Given the description of an element on the screen output the (x, y) to click on. 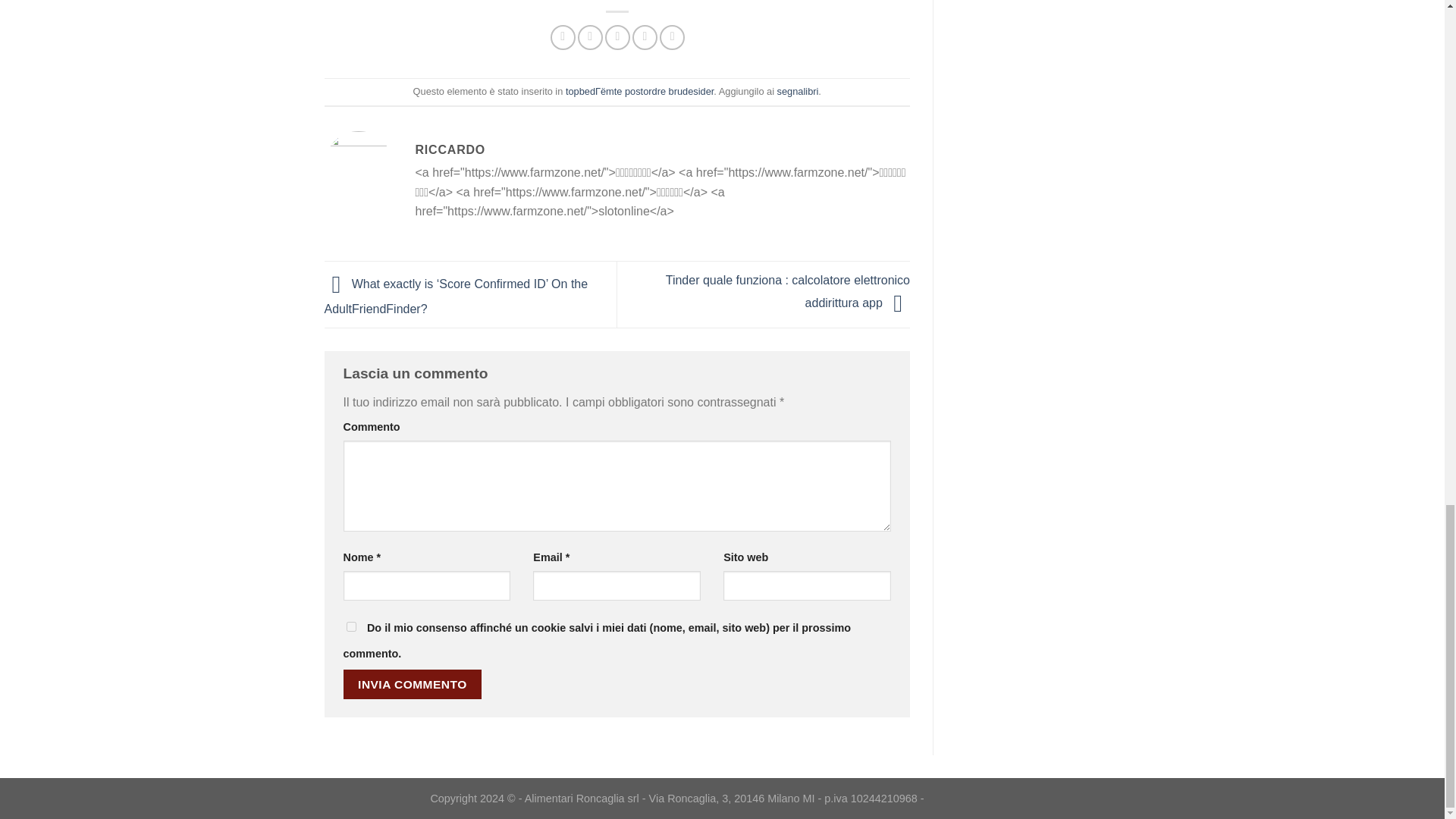
Condividi su Facebook (562, 37)
Privacy Policy  (970, 793)
Pin su Pinterest (644, 37)
Condividi su Twitter (590, 37)
Invia commento (411, 684)
yes (350, 626)
Invia commento (411, 684)
Share on LinkedIn (671, 37)
Invia per email ad un Amico (617, 37)
segnalibri (797, 91)
